Given the description of an element on the screen output the (x, y) to click on. 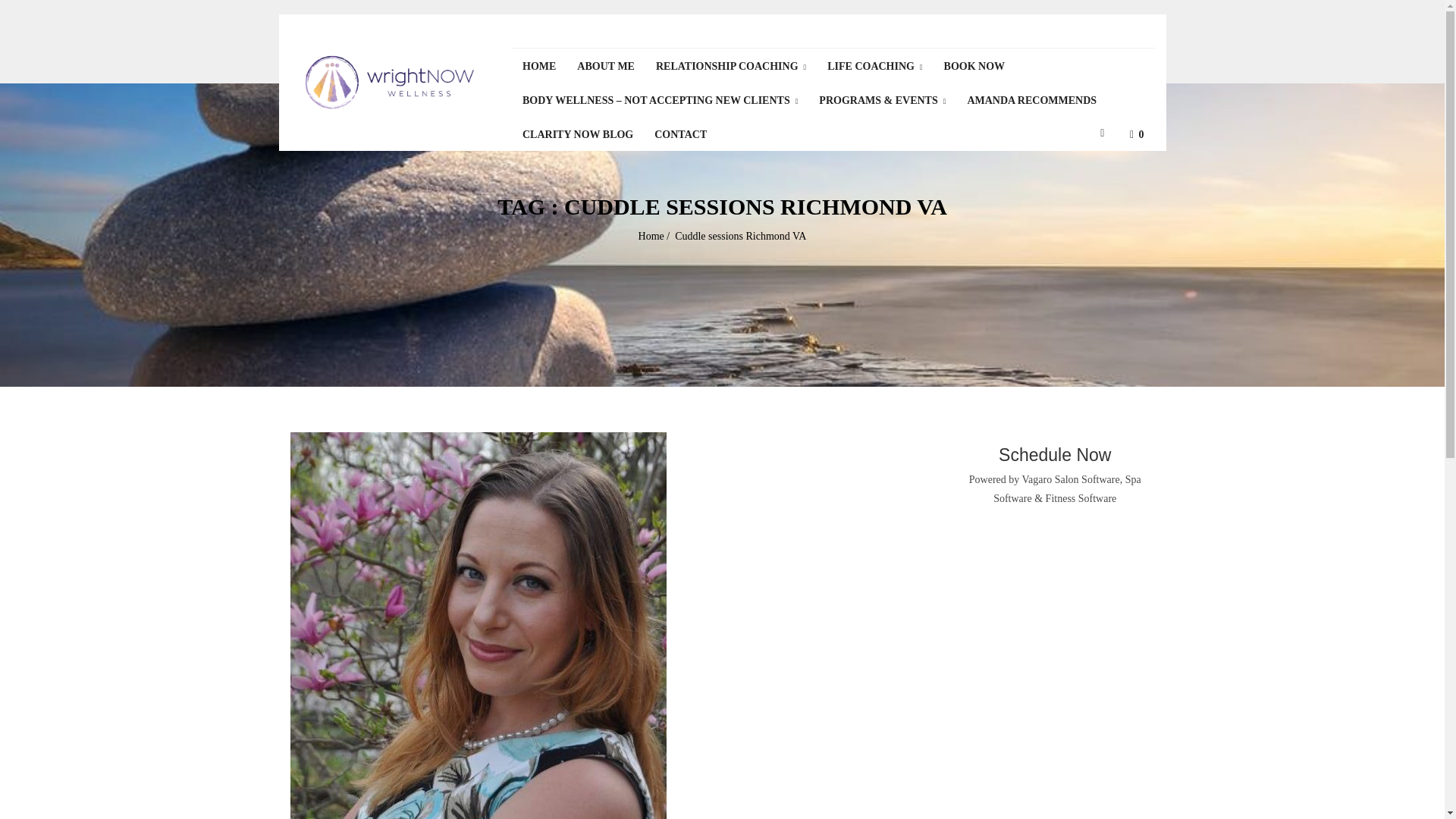
AMANDA RECOMMENDS (1031, 100)
CLARITY NOW BLOG (577, 133)
LIFE COACHING (874, 66)
BOOK NOW (974, 65)
0 (1135, 133)
Home (651, 235)
CONTACT (680, 133)
ABOUT ME (605, 65)
RELATIONSHIP COACHING (730, 66)
HOME (539, 65)
